Given the description of an element on the screen output the (x, y) to click on. 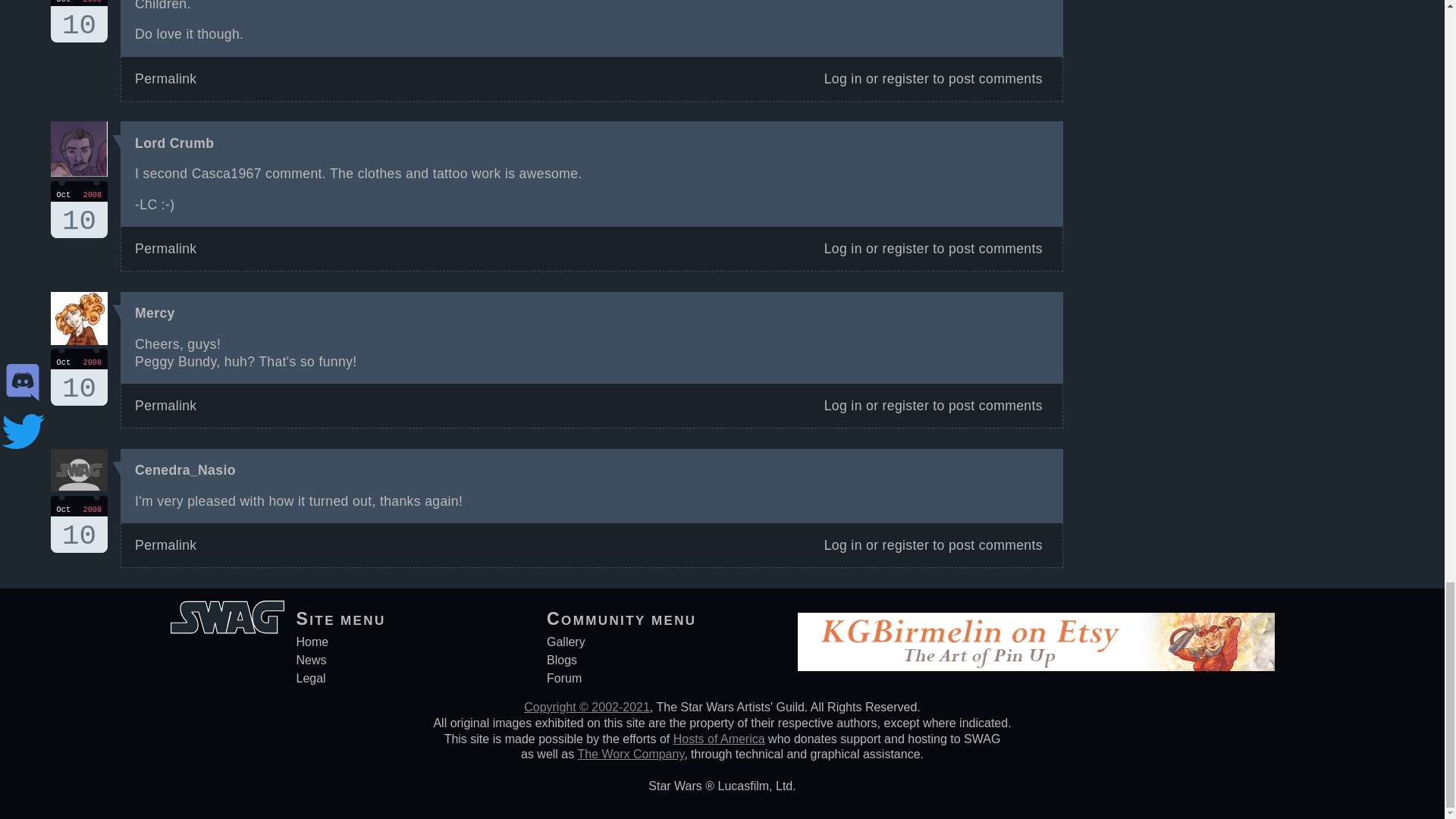
register (905, 248)
Log in (842, 405)
View user profile. (78, 209)
View user profile. (78, 376)
register (174, 142)
Permalink (154, 313)
Log in (905, 405)
Permalink (165, 248)
Log in (842, 248)
Log in (165, 544)
Permalink (842, 544)
Permalink (842, 78)
Mercy (165, 78)
